Given the description of an element on the screen output the (x, y) to click on. 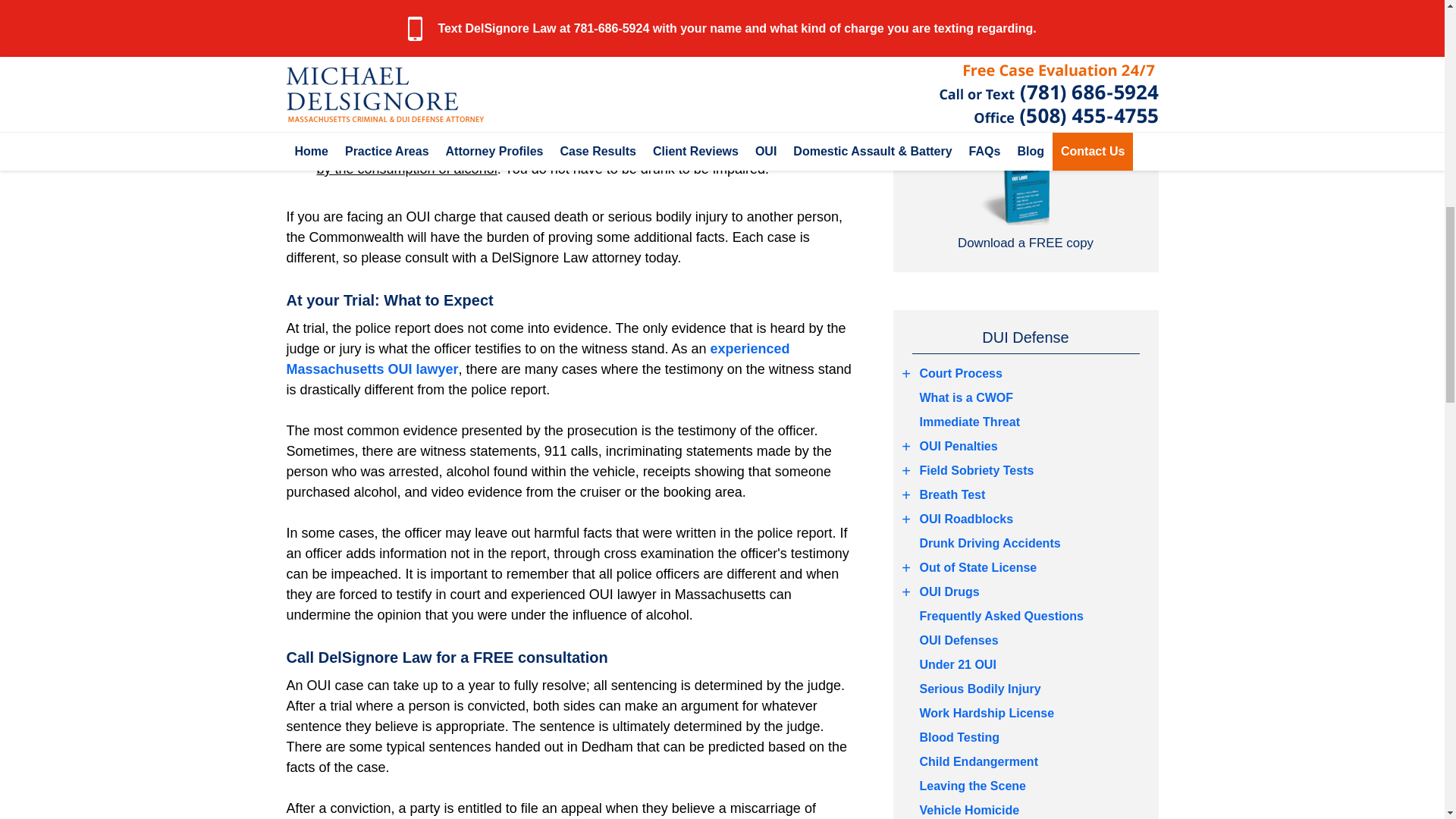
Search (1024, 16)
See More (906, 373)
See More (906, 591)
See More (906, 470)
See More (906, 495)
See More (906, 567)
See More (906, 519)
See More (906, 446)
